Given the description of an element on the screen output the (x, y) to click on. 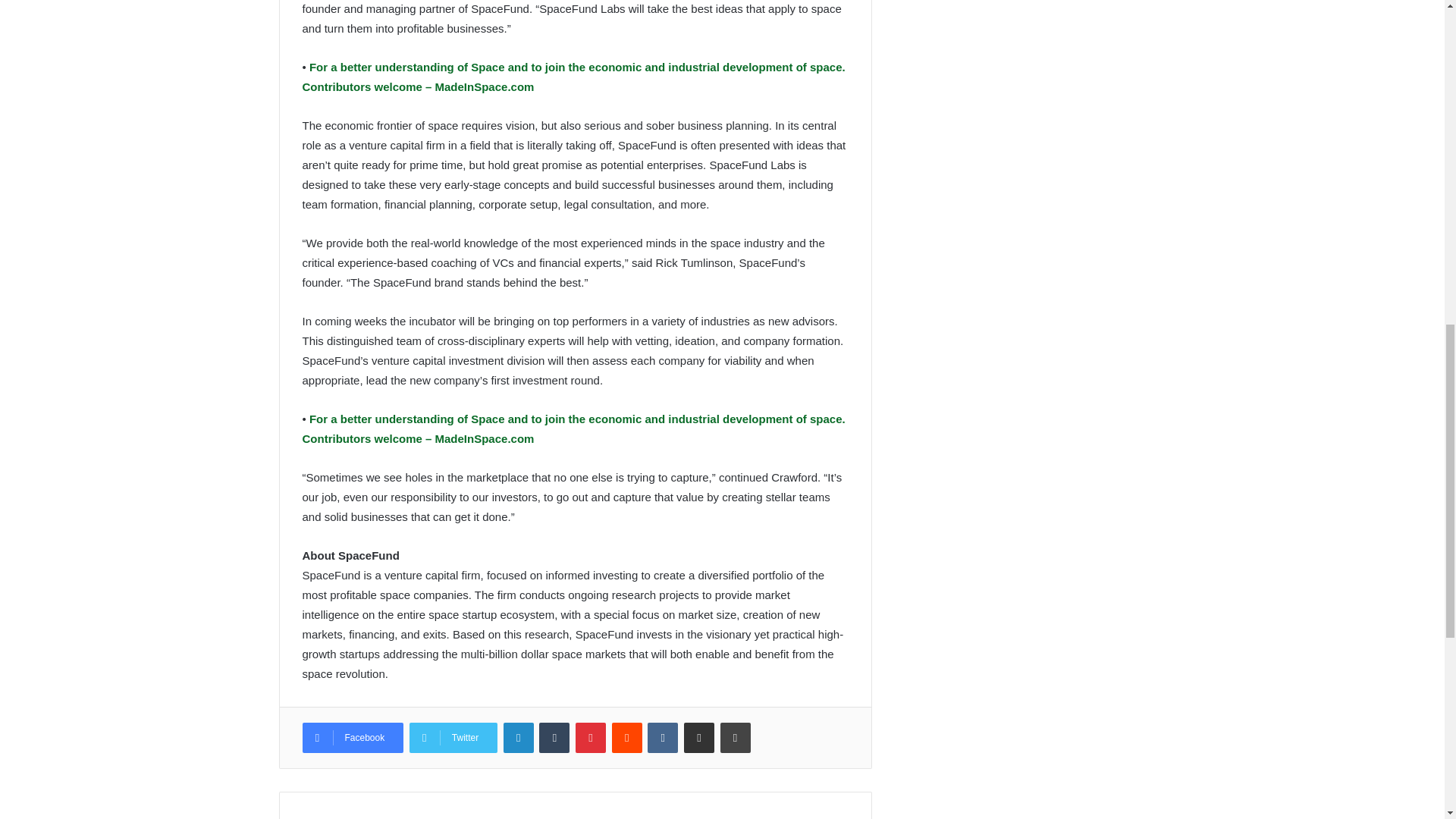
Pinterest (590, 737)
Reddit (626, 737)
Print (735, 737)
Share via Email (699, 737)
Facebook (352, 737)
LinkedIn (518, 737)
Twitter (453, 737)
Tumblr (553, 737)
VKontakte (662, 737)
